Given the description of an element on the screen output the (x, y) to click on. 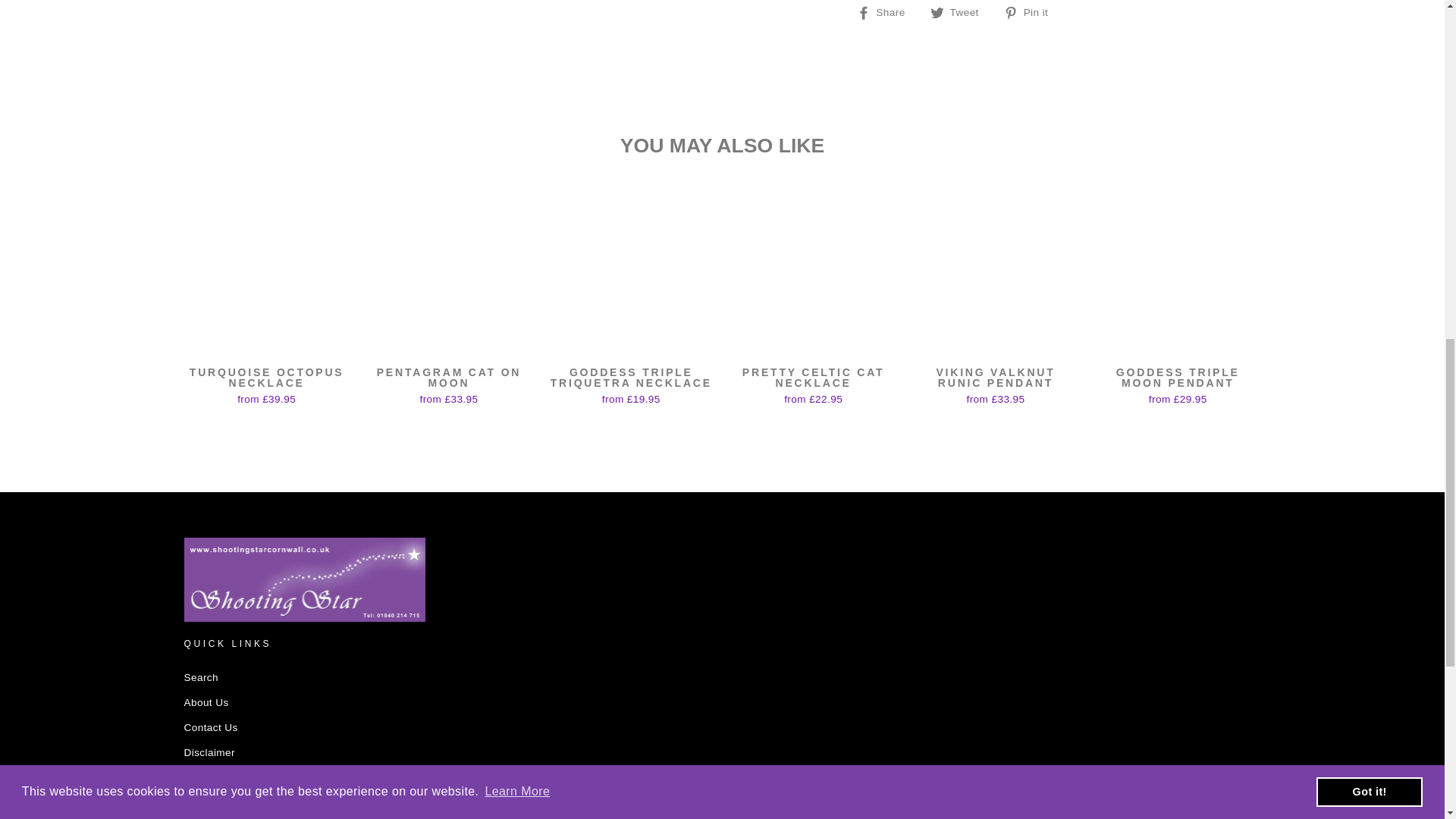
Share on Facebook (887, 12)
Pin on Pinterest (1031, 12)
Tweet on Twitter (960, 12)
